Given the description of an element on the screen output the (x, y) to click on. 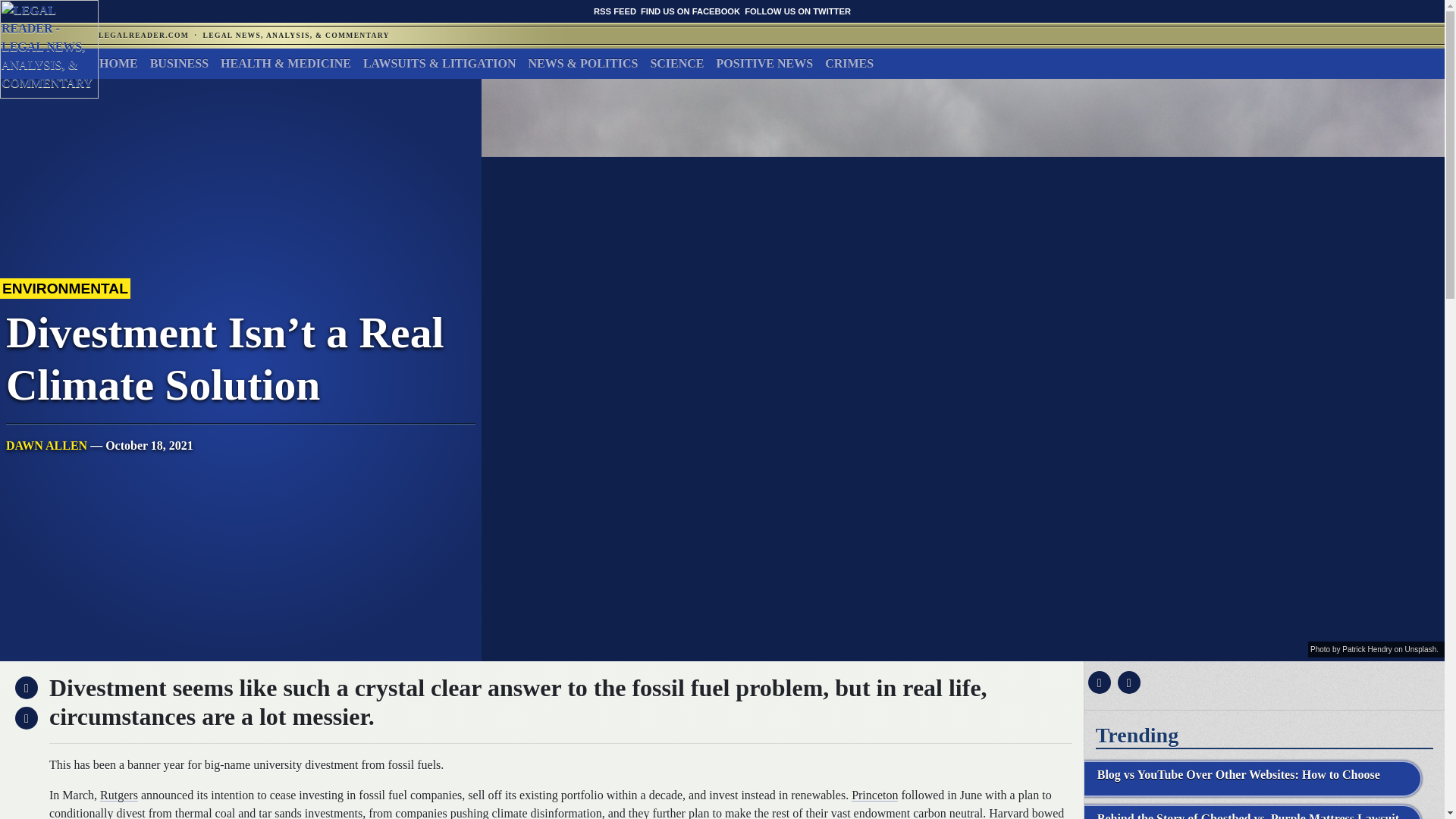
Science (676, 63)
RSS FEED (615, 10)
Find Legal Reader on Facebook (689, 10)
Posts by Dawn Allen (46, 445)
Harvard (1007, 812)
CRIMES (848, 63)
POSITIVE NEWS (764, 63)
BUSINESS (179, 63)
Legal Reader News Feed (615, 10)
Home (118, 63)
